Given the description of an element on the screen output the (x, y) to click on. 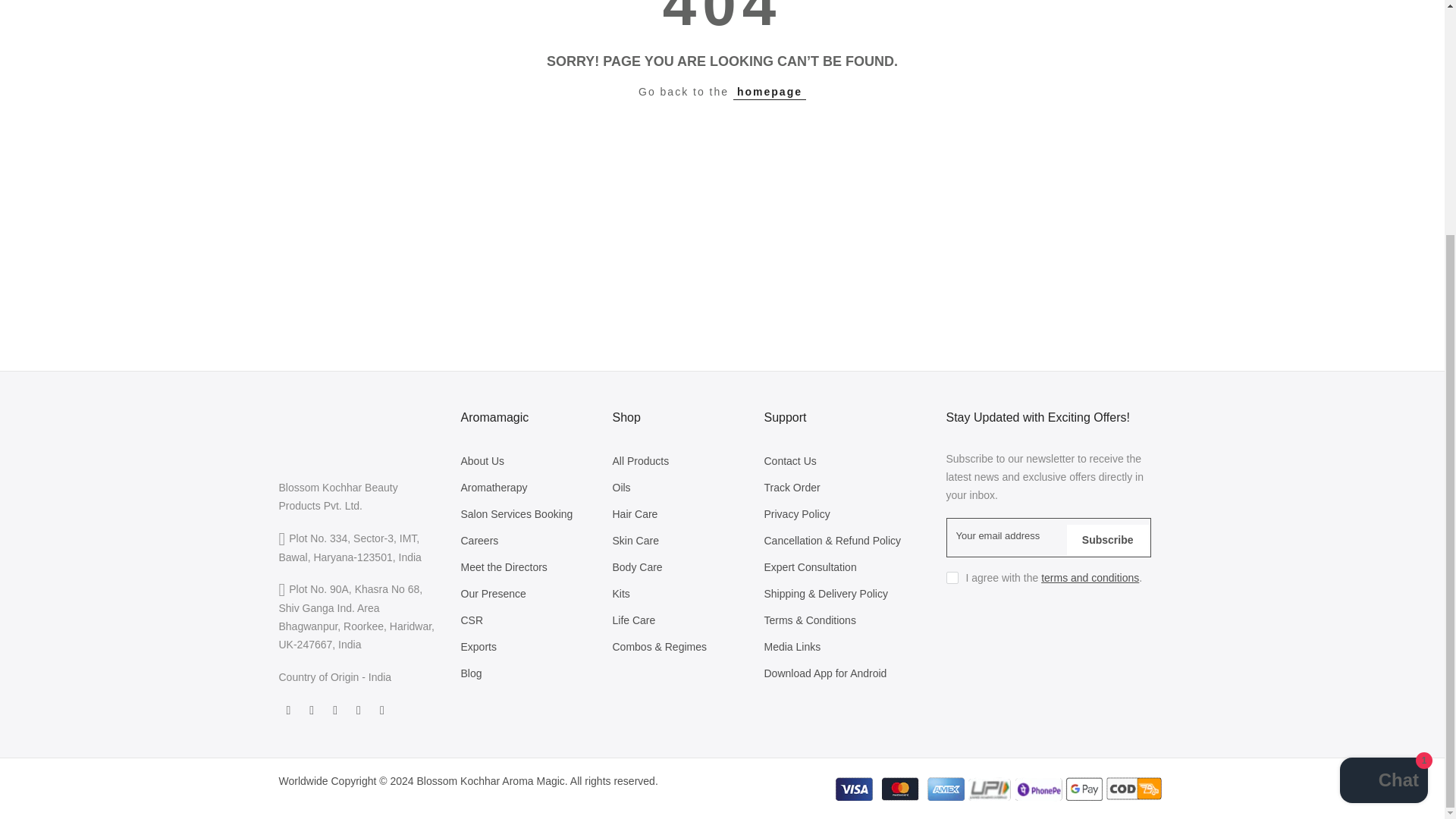
Shopify online store chat (1383, 462)
